Given the description of an element on the screen output the (x, y) to click on. 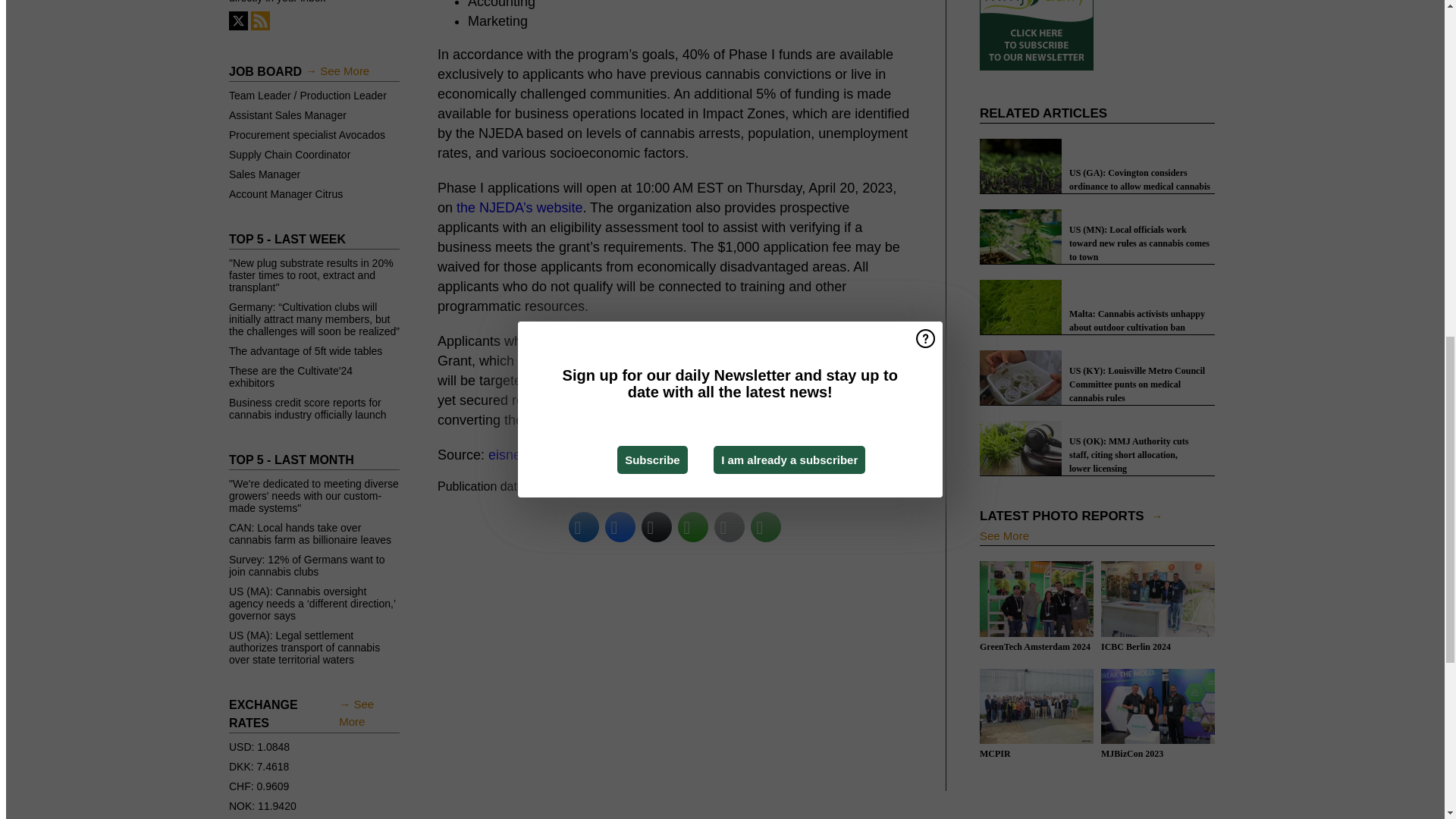
More Options (766, 526)
Facebook (620, 526)
LinkedIn (584, 526)
WhatsApp (693, 526)
Email This (729, 526)
